Given the description of an element on the screen output the (x, y) to click on. 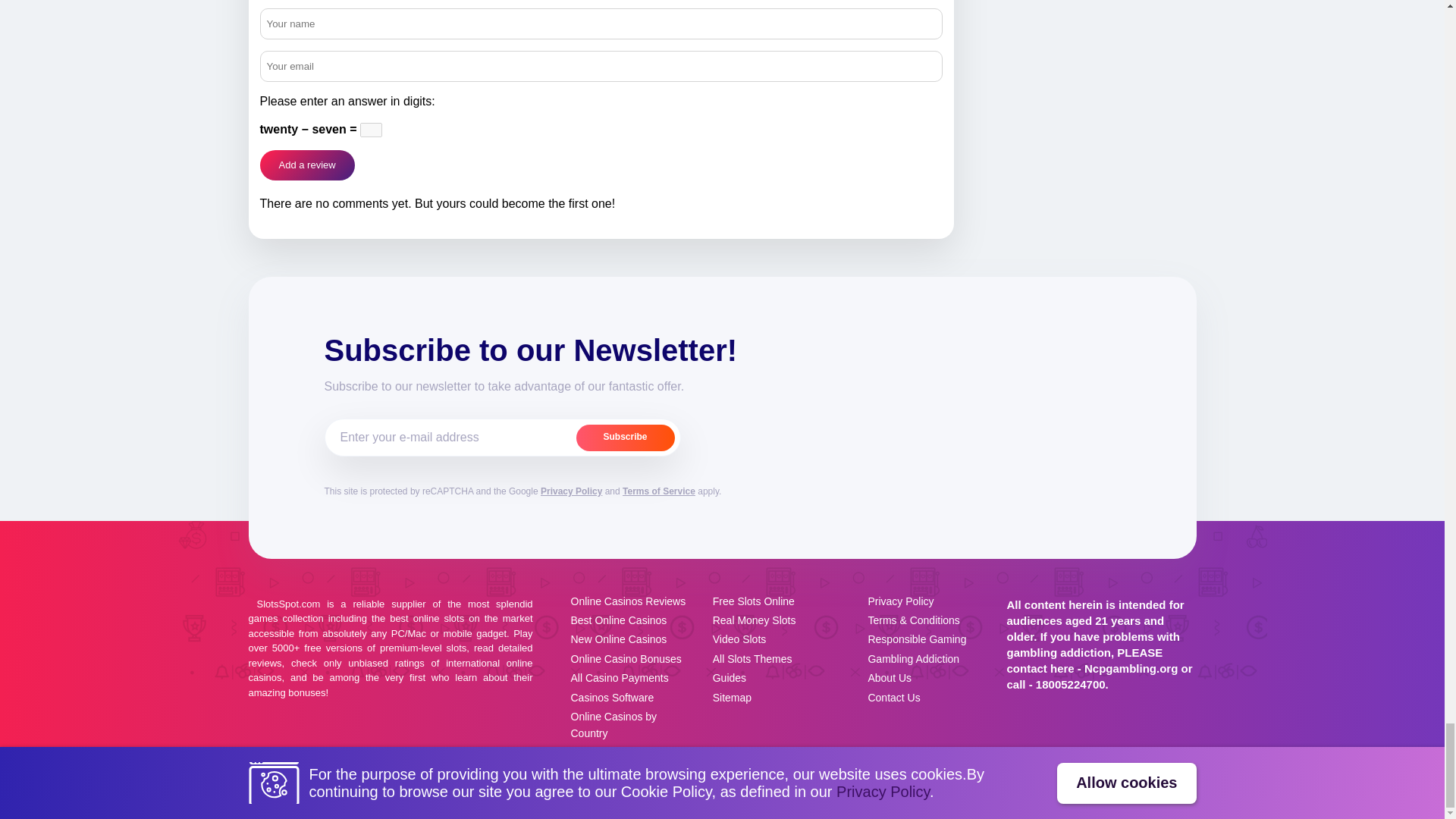
Add a review (306, 164)
